Given the description of an element on the screen output the (x, y) to click on. 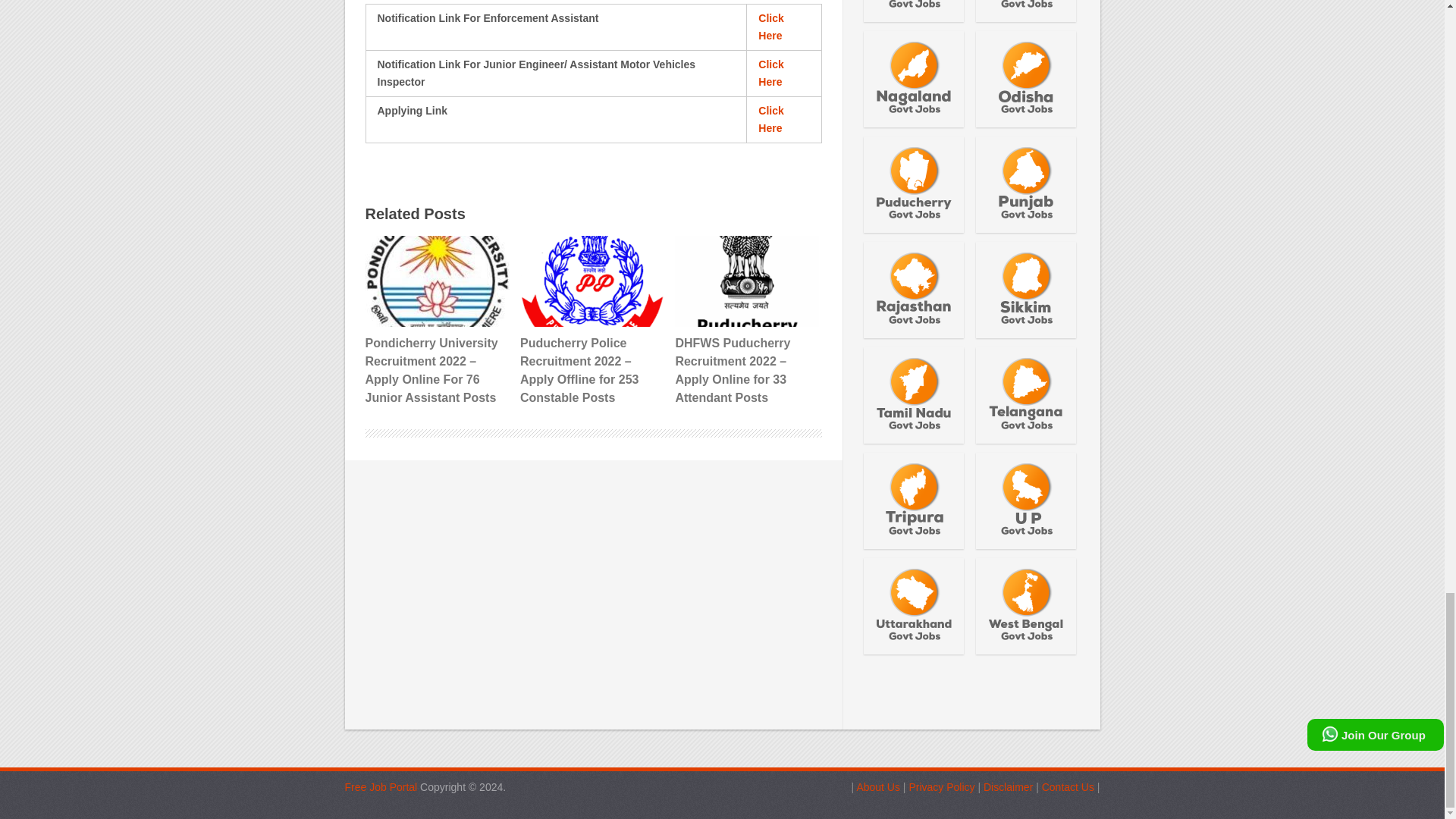
 Tamil Job Site (379, 787)
